Given the description of an element on the screen output the (x, y) to click on. 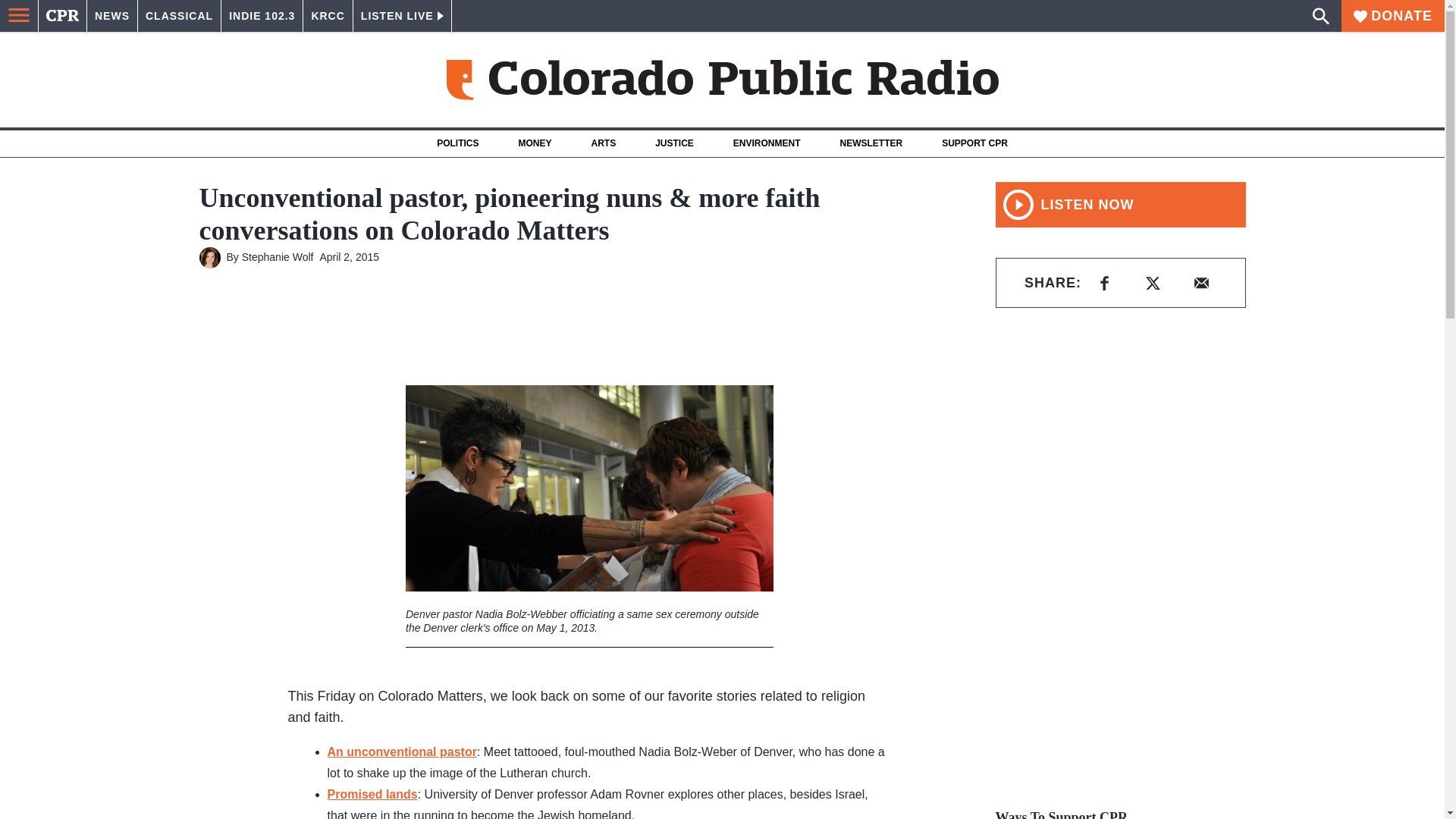
CLASSICAL (179, 15)
KRCC (327, 15)
LISTEN LIVE (402, 15)
NEWS (111, 15)
INDIE 102.3 (261, 15)
